Given the description of an element on the screen output the (x, y) to click on. 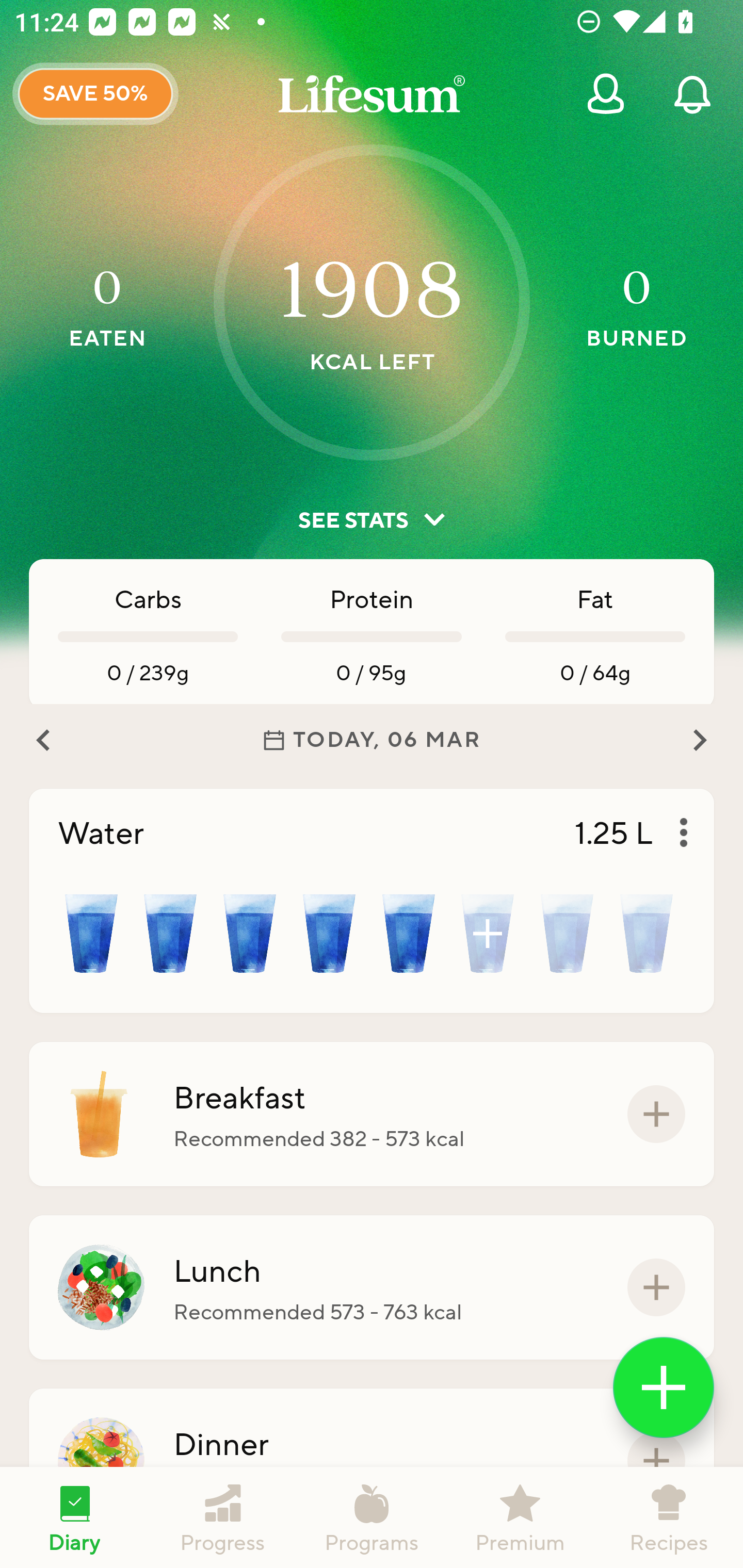
SEE STATS (371, 519)
TODAY, 06 MAR (371, 739)
Breakfast Recommended 382 - 573 kcal (371, 1113)
Lunch Recommended 573 - 763 kcal (371, 1287)
Dinner Recommended 573 - 763 kcal (371, 1461)
Progress (222, 1517)
Programs (371, 1517)
Premium (519, 1517)
Recipes (668, 1517)
